Given the description of an element on the screen output the (x, y) to click on. 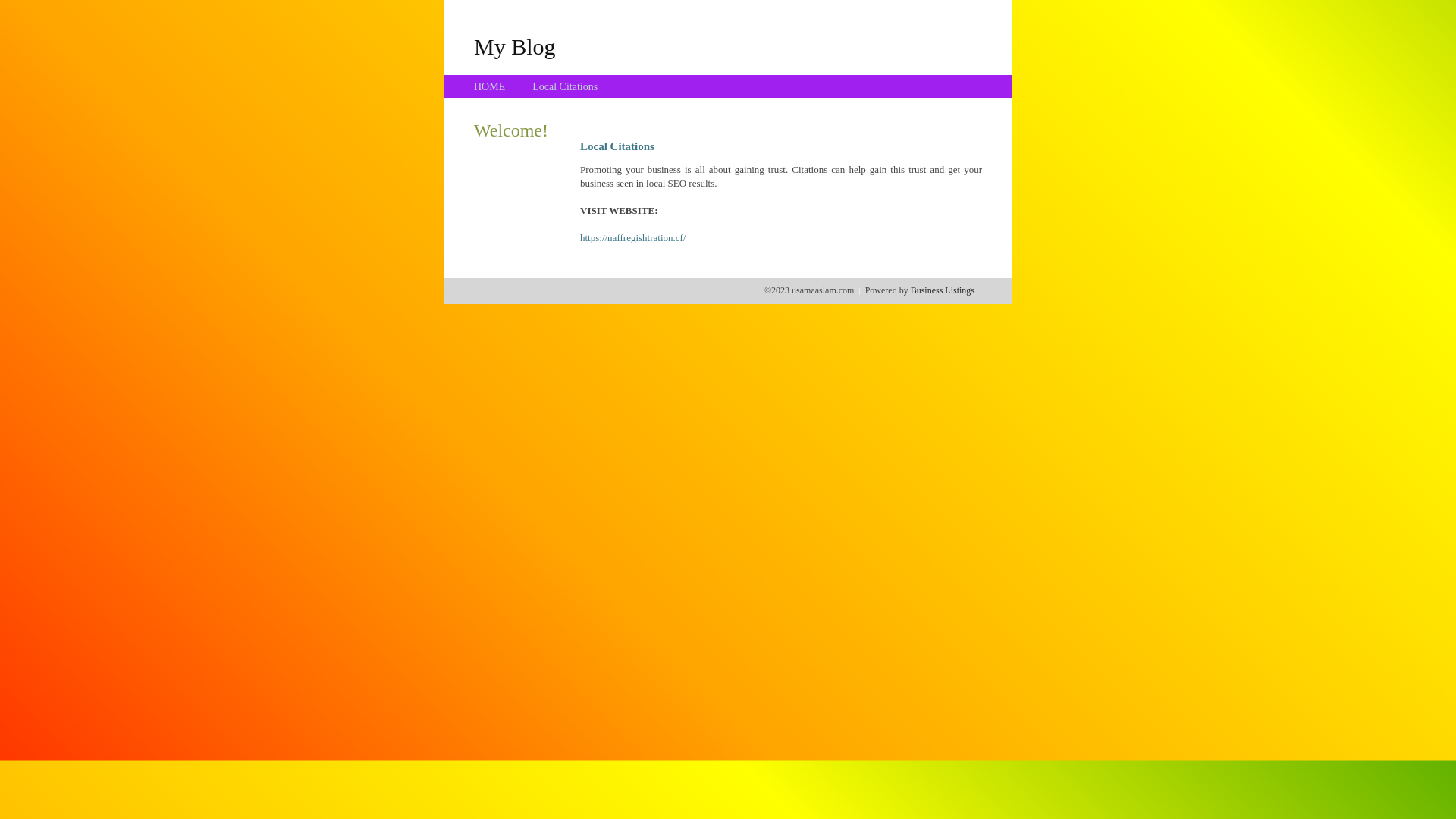
https://naffregishtration.cf/ Element type: text (632, 237)
Local Citations Element type: text (564, 86)
My Blog Element type: text (514, 46)
Business Listings Element type: text (942, 290)
HOME Element type: text (489, 86)
